Given the description of an element on the screen output the (x, y) to click on. 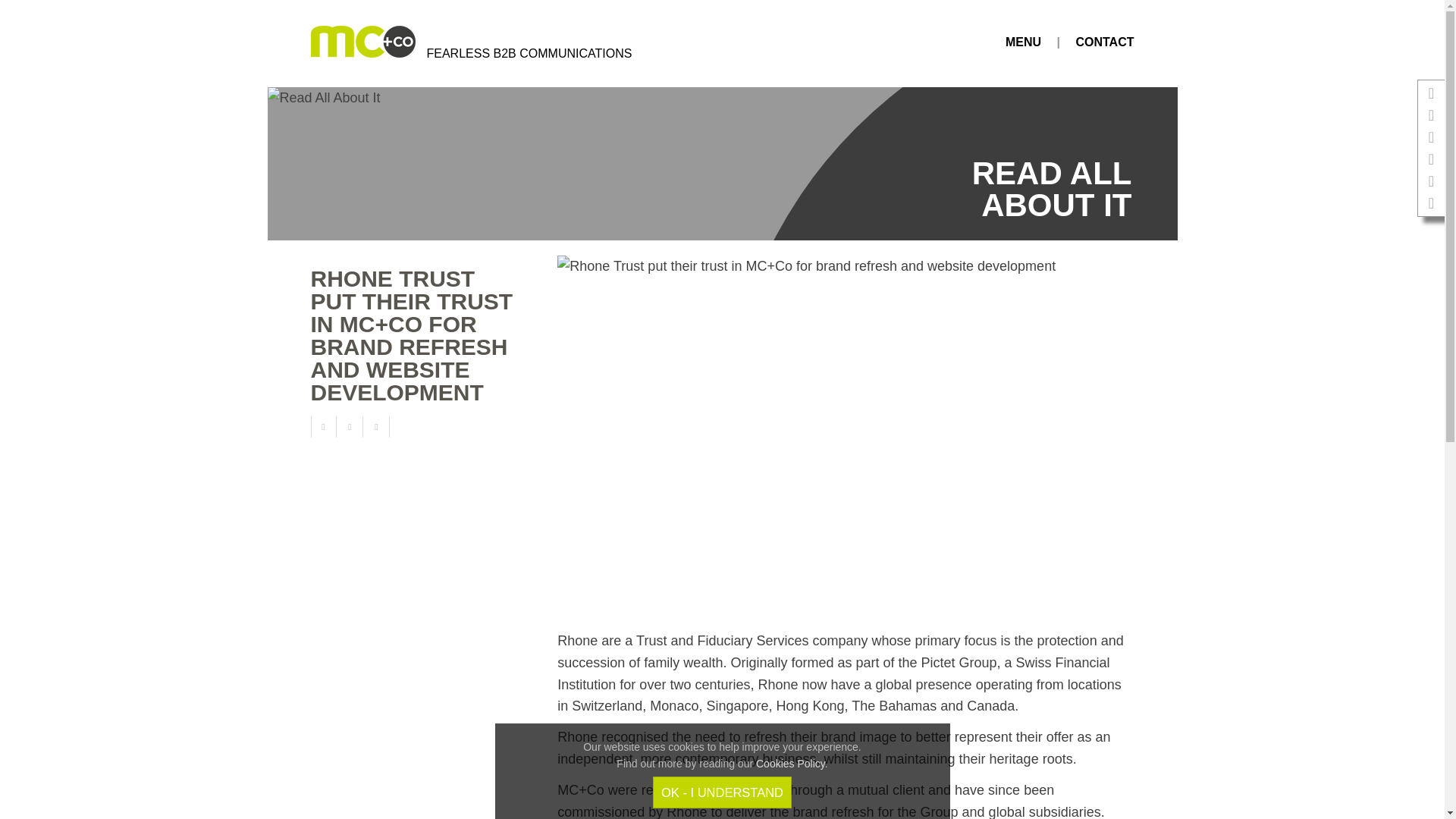
MENU (1023, 42)
Home (448, 43)
CONTACT (1104, 42)
Share on LinkedIn (378, 426)
OK - I Understand (722, 792)
FEARLESS B2B COMMUNICATIONS (448, 43)
Share on Facebook (323, 426)
Share on Twitter (352, 426)
